Given the description of an element on the screen output the (x, y) to click on. 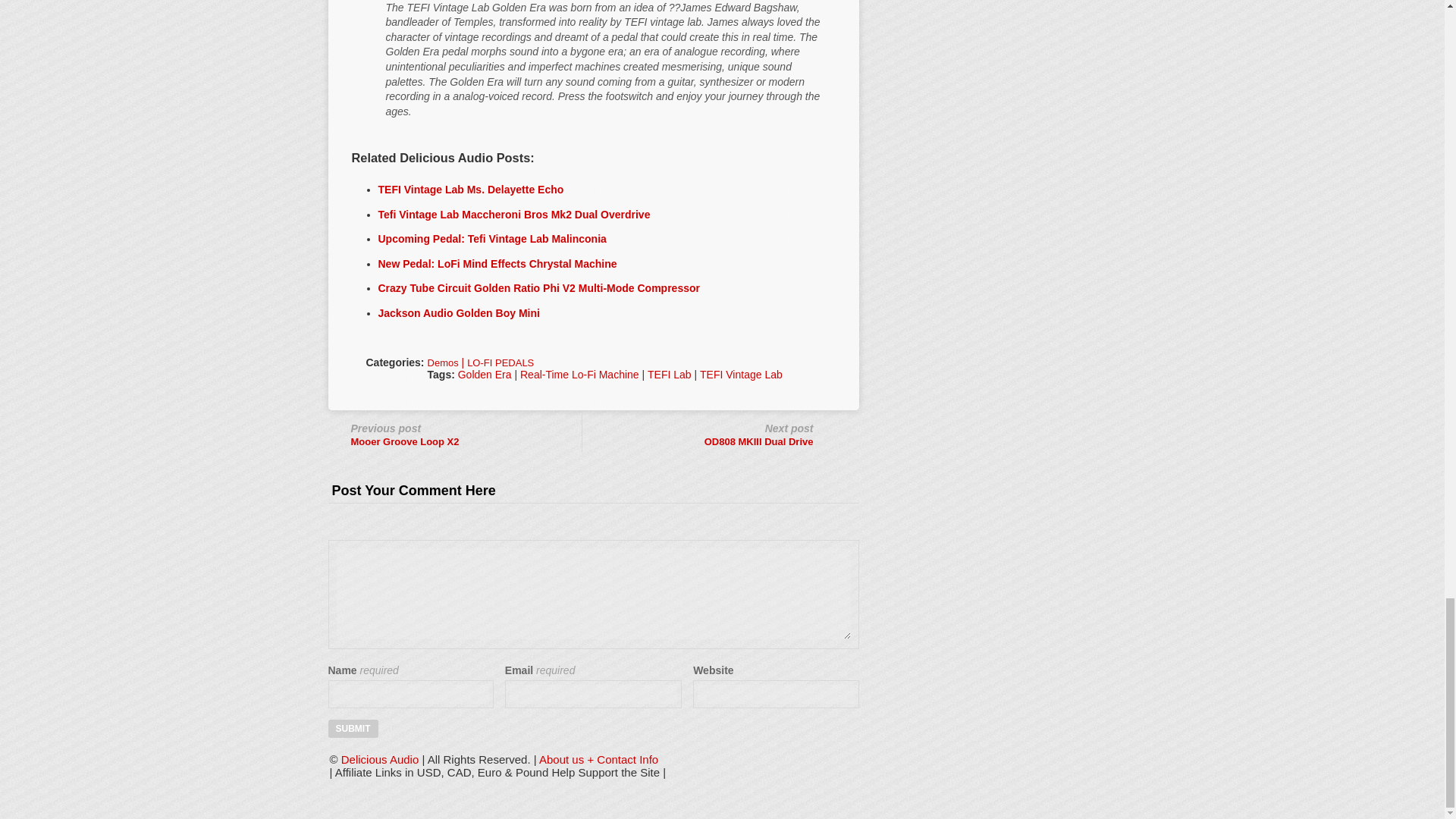
View all posts tagged Real-Time Lo-Fi Machine (579, 374)
View all posts tagged TEFI Lab (669, 374)
View all posts tagged Golden Era (485, 374)
View all posts tagged TEFI Vintage Lab (741, 374)
